Given the description of an element on the screen output the (x, y) to click on. 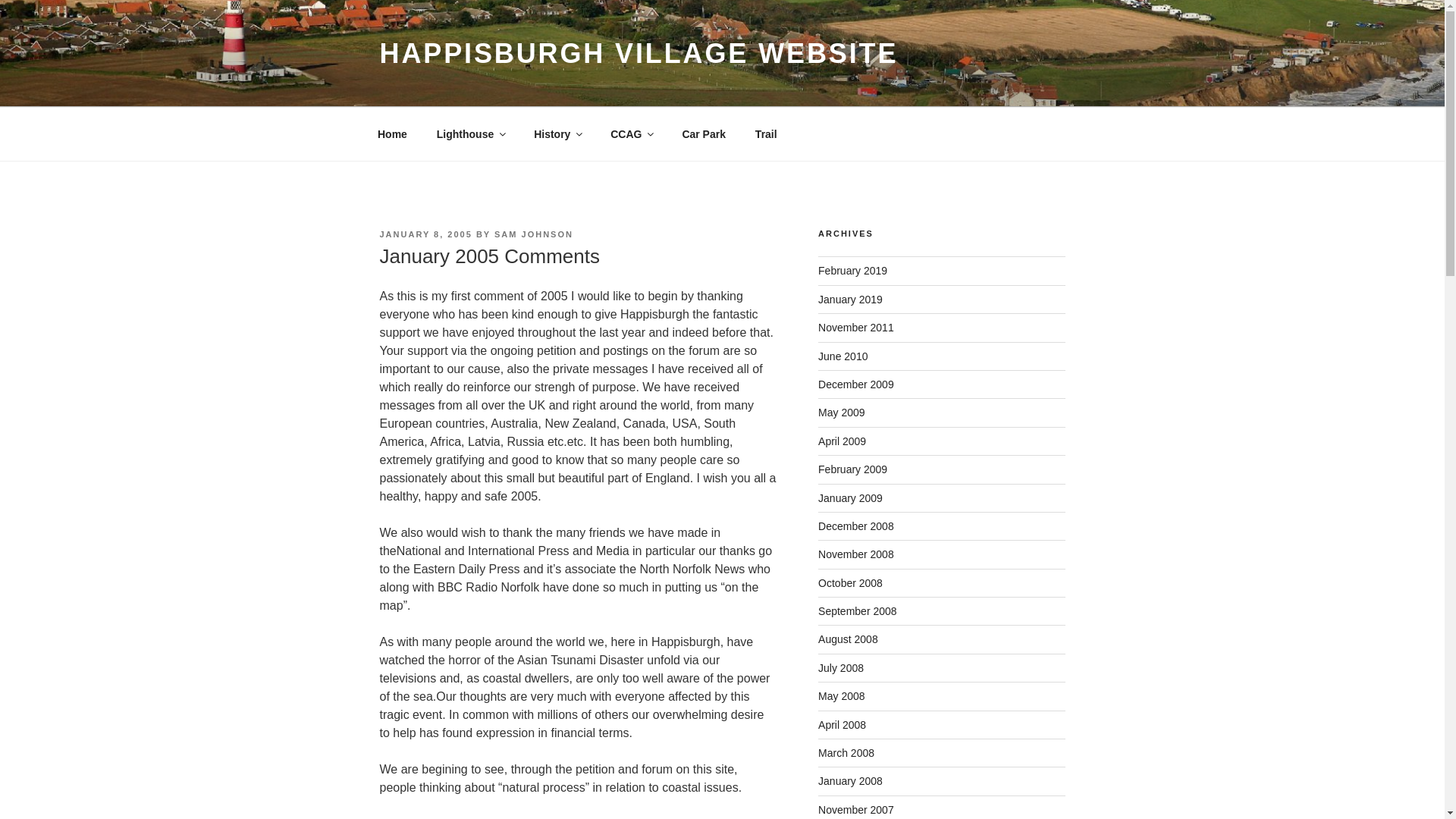
Home (392, 133)
November 2011 (855, 327)
Trail (765, 133)
June 2010 (842, 356)
Car Park (703, 133)
January 2019 (850, 299)
SAM JOHNSON (534, 234)
HAPPISBURGH VILLAGE WEBSITE (638, 52)
CCAG (630, 133)
February 2019 (852, 270)
Lighthouse (469, 133)
JANUARY 8, 2005 (424, 234)
History (557, 133)
